Given the description of an element on the screen output the (x, y) to click on. 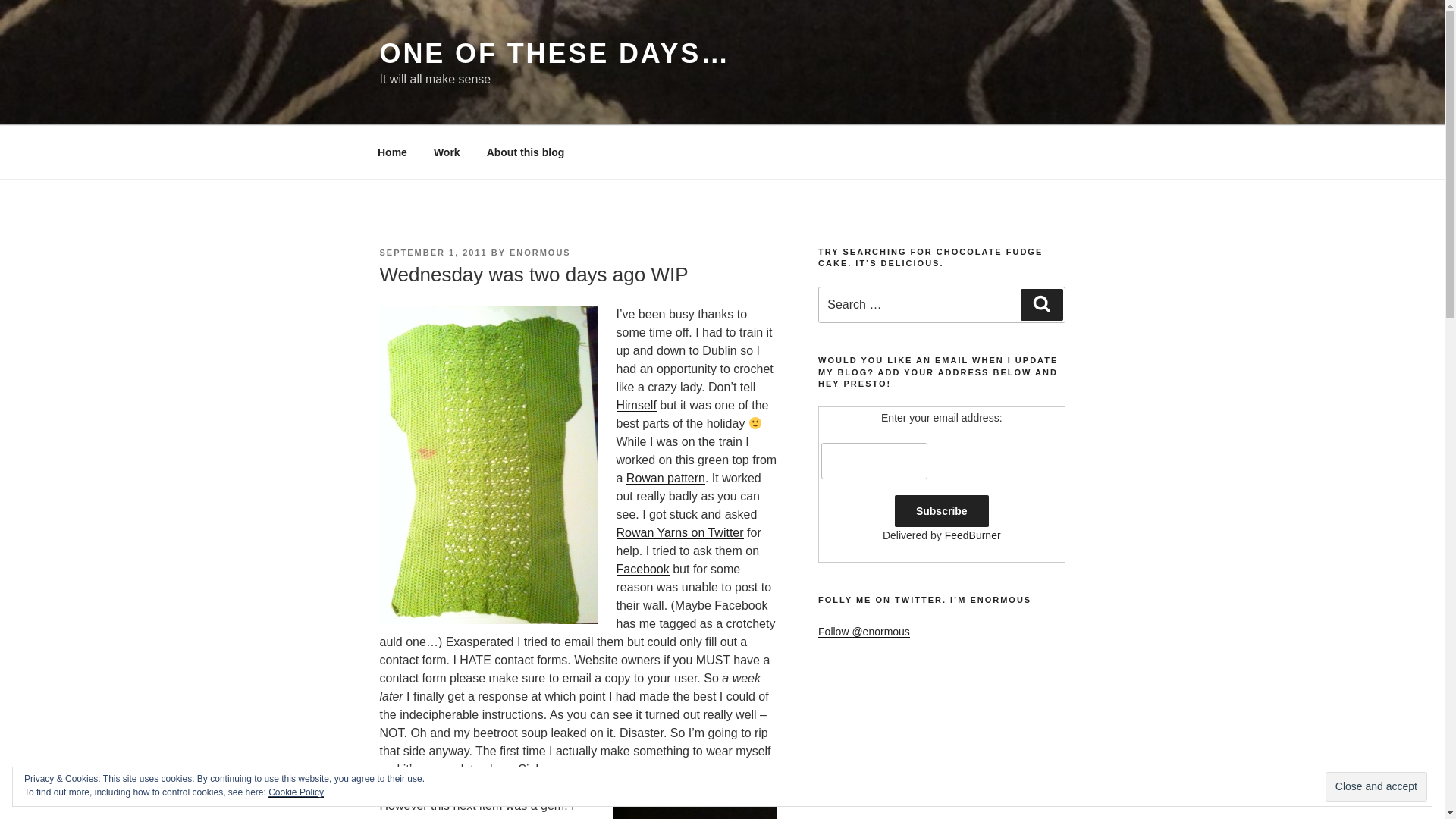
About this blog (525, 151)
Subscribe (941, 511)
Search (1041, 305)
Cookie Policy (295, 792)
Himself (635, 404)
Click here to find out more about Rowan Yarns on Twitter (686, 541)
Facebook (641, 568)
SEPTEMBER 1, 2011 (432, 252)
Rowan Yarns on Twitter (686, 541)
Work (446, 151)
Close and accept (1375, 786)
Subscribe (941, 511)
Rowan pattern (665, 477)
FeedBurner (972, 535)
Close and accept (1375, 786)
